Given the description of an element on the screen output the (x, y) to click on. 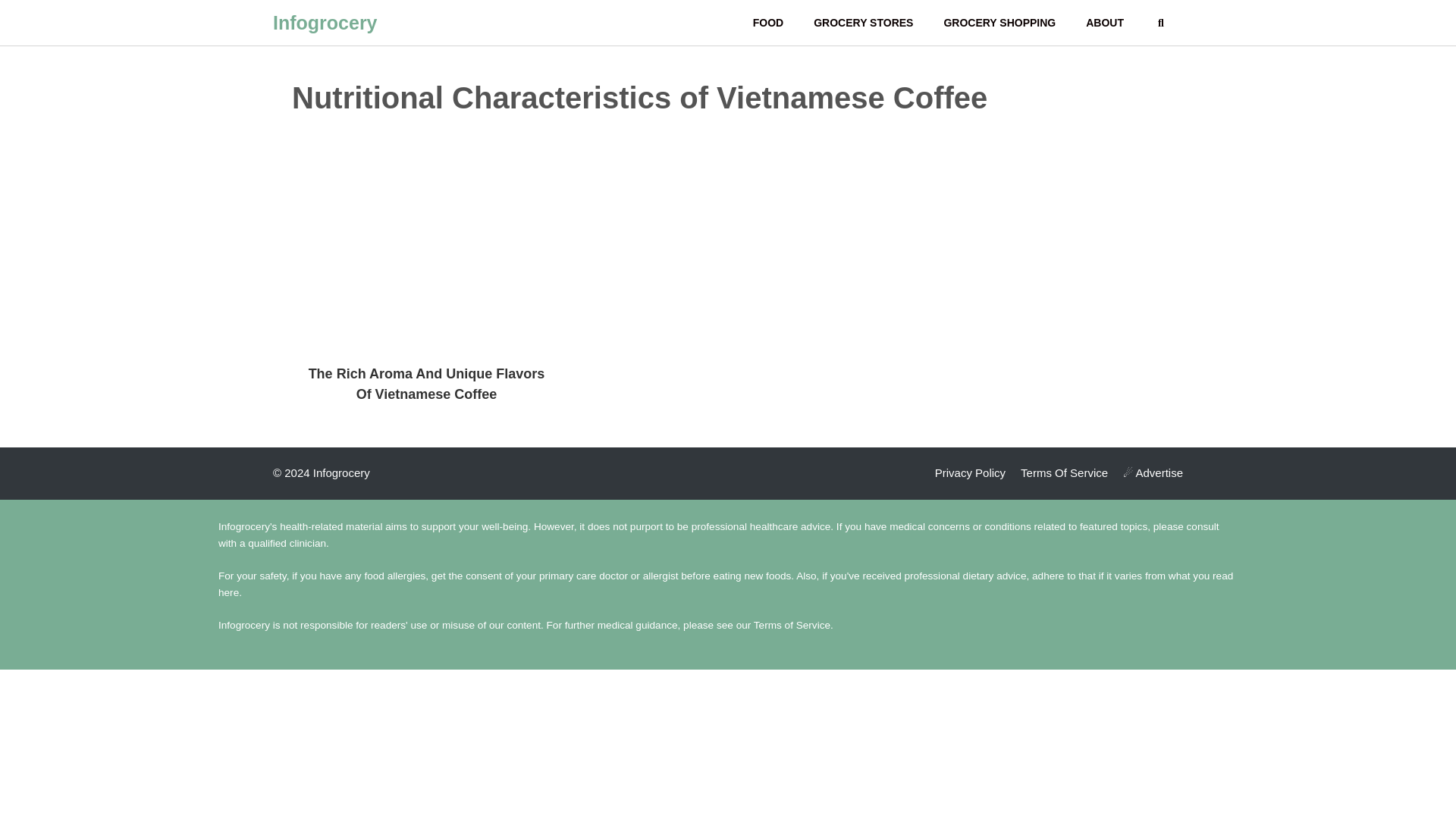
Terms Of Service (1064, 472)
Privacy Policy (970, 472)
The Rich Aroma And Unique Flavors Of Vietnamese Coffee (426, 384)
FOOD (767, 22)
GROCERY SHOPPING (999, 22)
Infogrocery (325, 22)
ABOUT (1104, 22)
GROCERY STORES (862, 22)
